Given the description of an element on the screen output the (x, y) to click on. 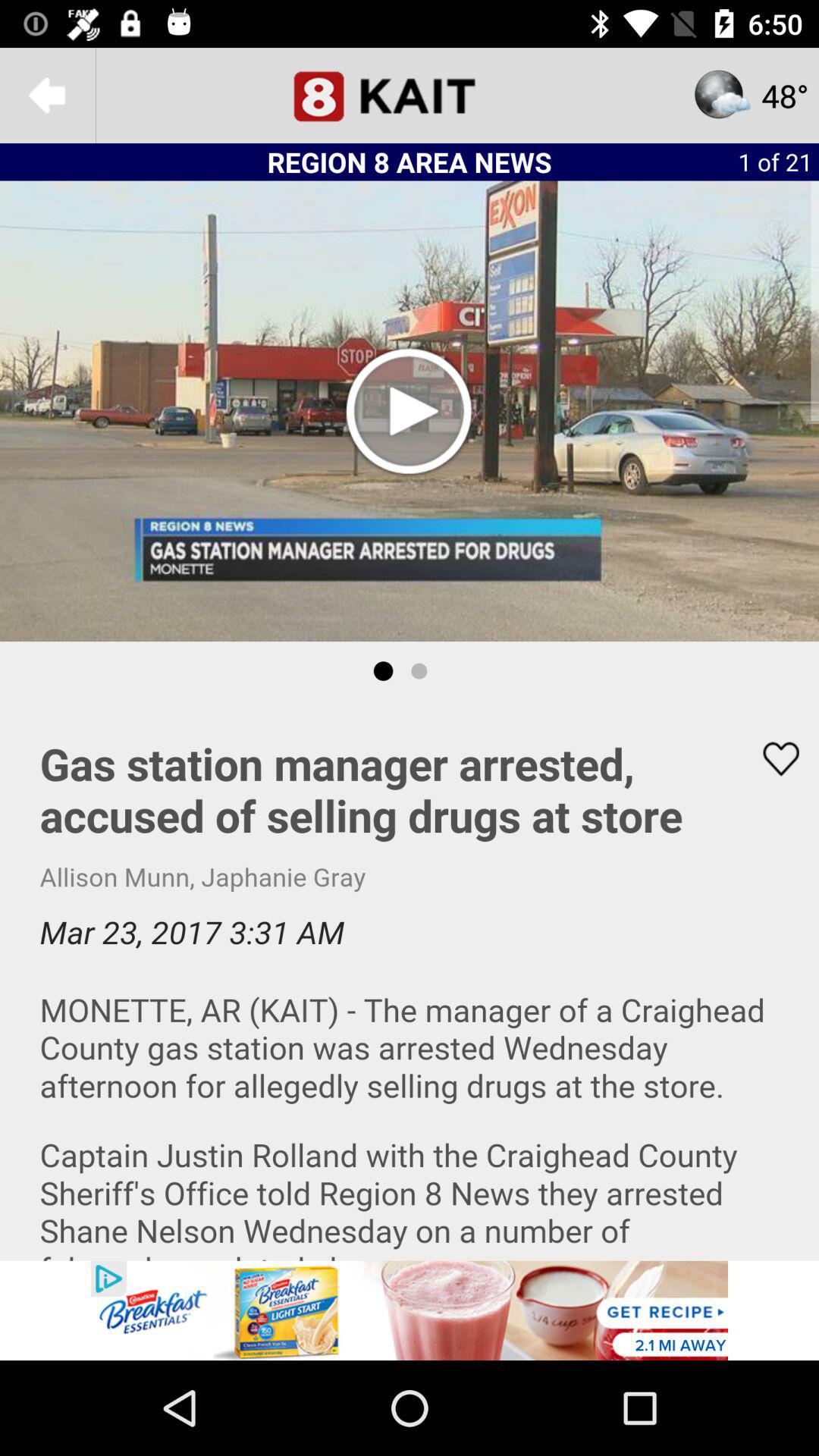
for add (409, 1310)
